Given the description of an element on the screen output the (x, y) to click on. 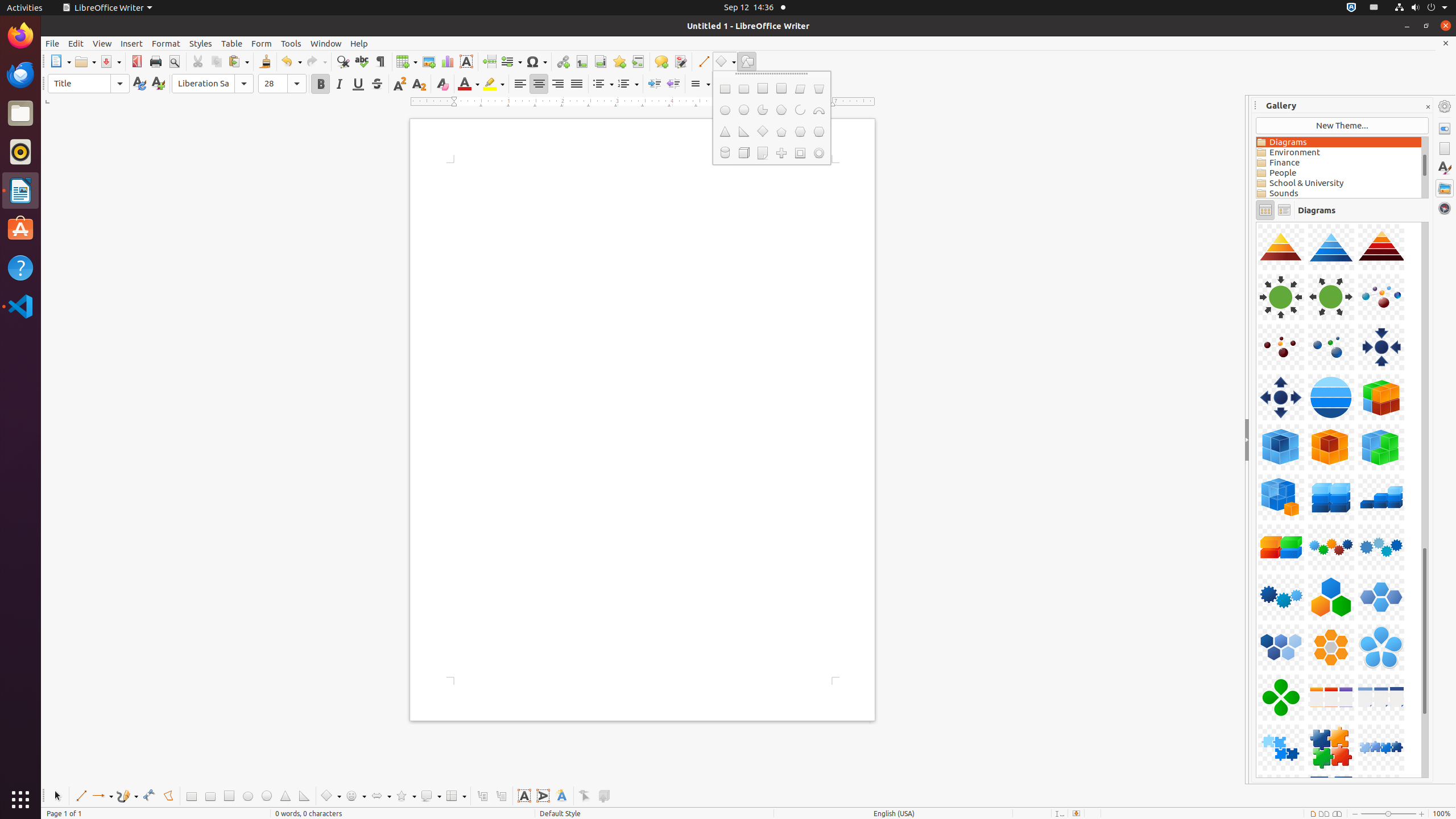
Update Element type: push-button (138, 83)
Thunderbird Mail Element type: push-button (20, 74)
Component-Gear03-Green Element type: list-item (1256, 222)
Image Element type: push-button (428, 61)
Tools Element type: menu (290, 43)
